Given the description of an element on the screen output the (x, y) to click on. 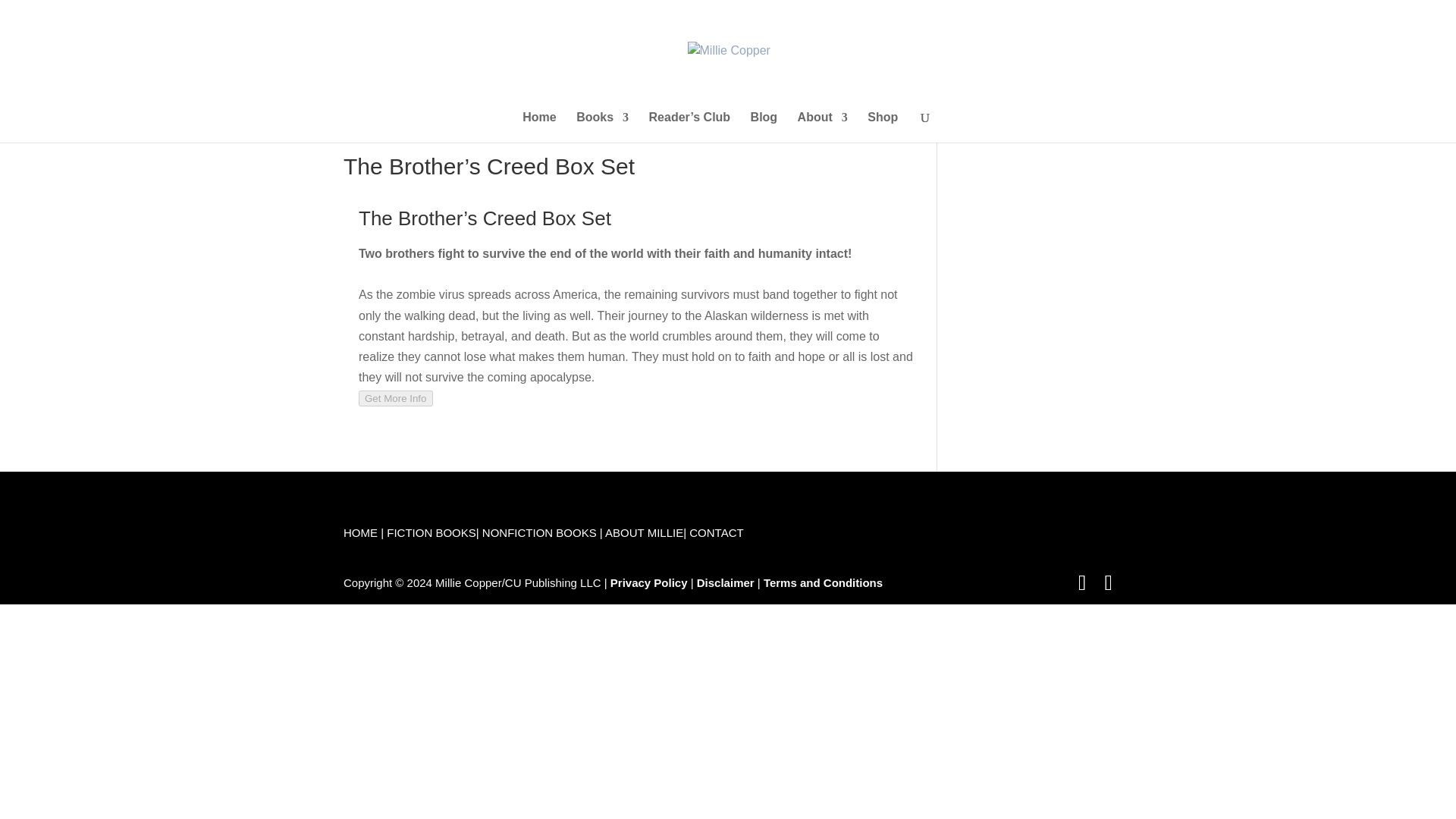
Disclaimer (725, 582)
About (822, 127)
Blog (764, 127)
Home (539, 127)
HOME (360, 532)
Get More Info (395, 398)
Shop (882, 127)
Terms and Conditions (822, 582)
CONTACT (715, 532)
Books (602, 127)
